Given the description of an element on the screen output the (x, y) to click on. 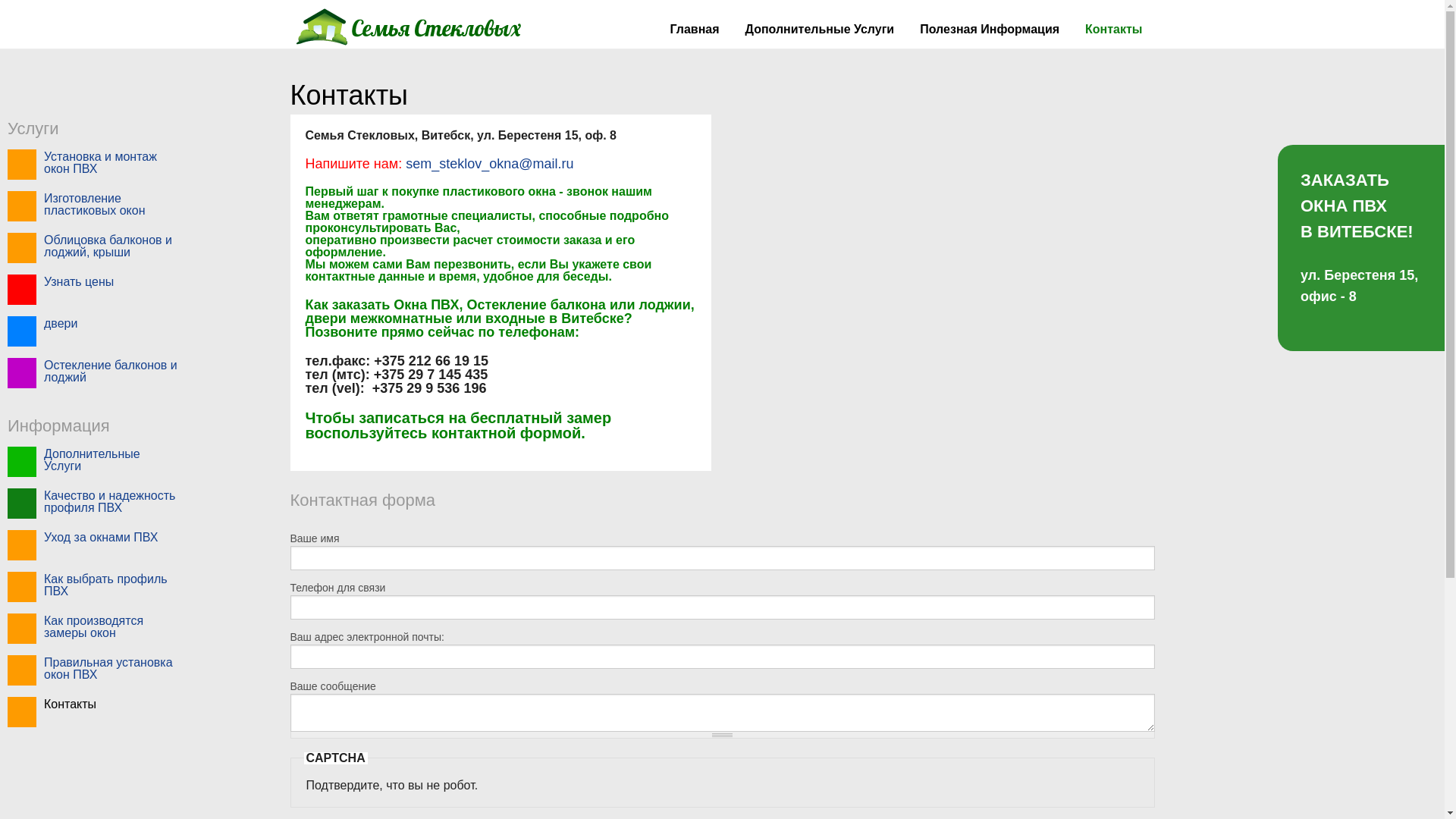
sem_steklov_okna@mail.ru Element type: text (487, 163)
